Given the description of an element on the screen output the (x, y) to click on. 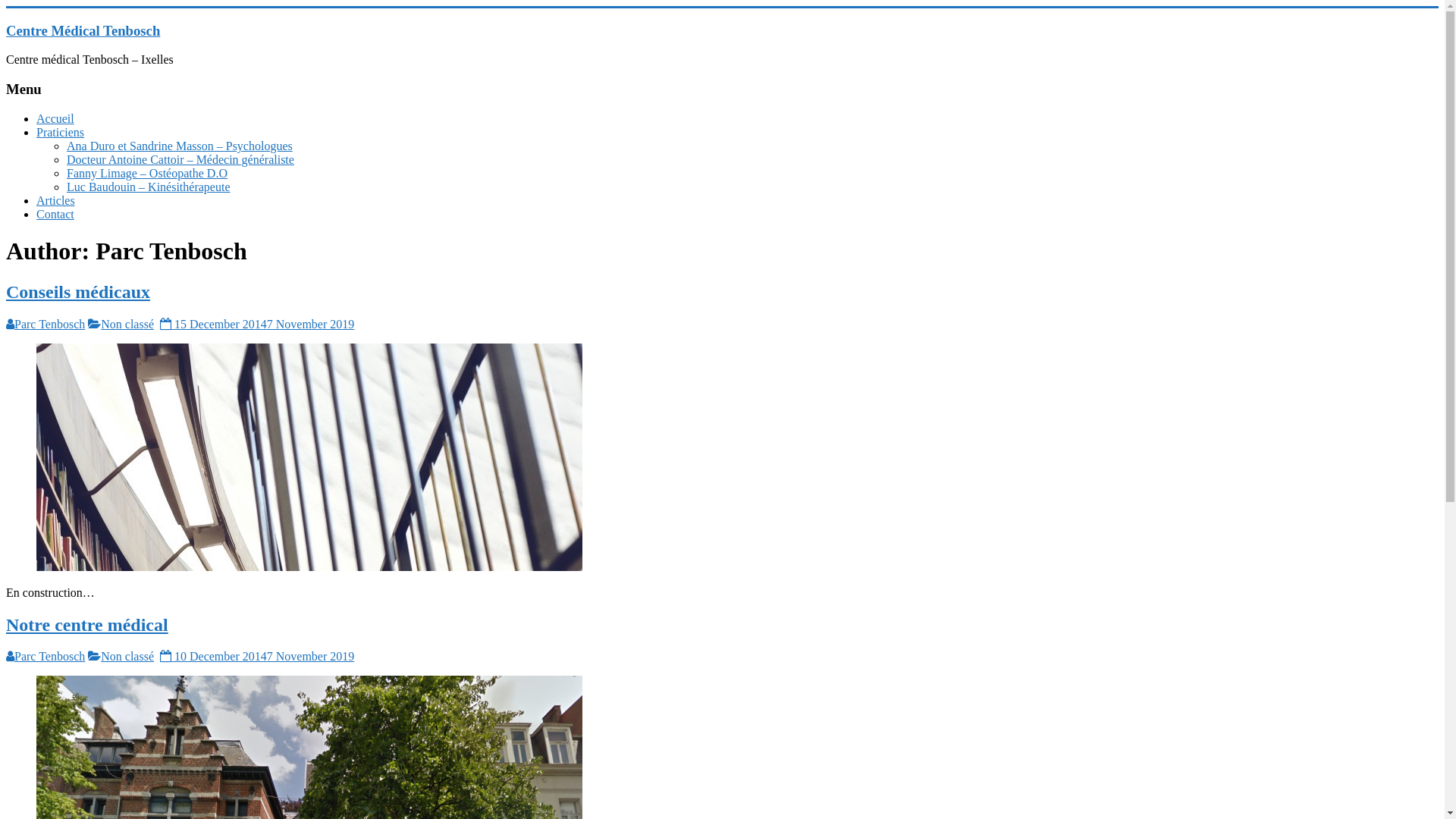
Accueil Element type: text (55, 118)
10 December 20147 November 2019 Element type: text (257, 655)
Praticiens Element type: text (60, 131)
15 December 20147 November 2019 Element type: text (257, 323)
Articles Element type: text (55, 200)
Contact Element type: text (55, 213)
Parc Tenbosch Element type: text (49, 655)
Parc Tenbosch Element type: text (49, 323)
